Given the description of an element on the screen output the (x, y) to click on. 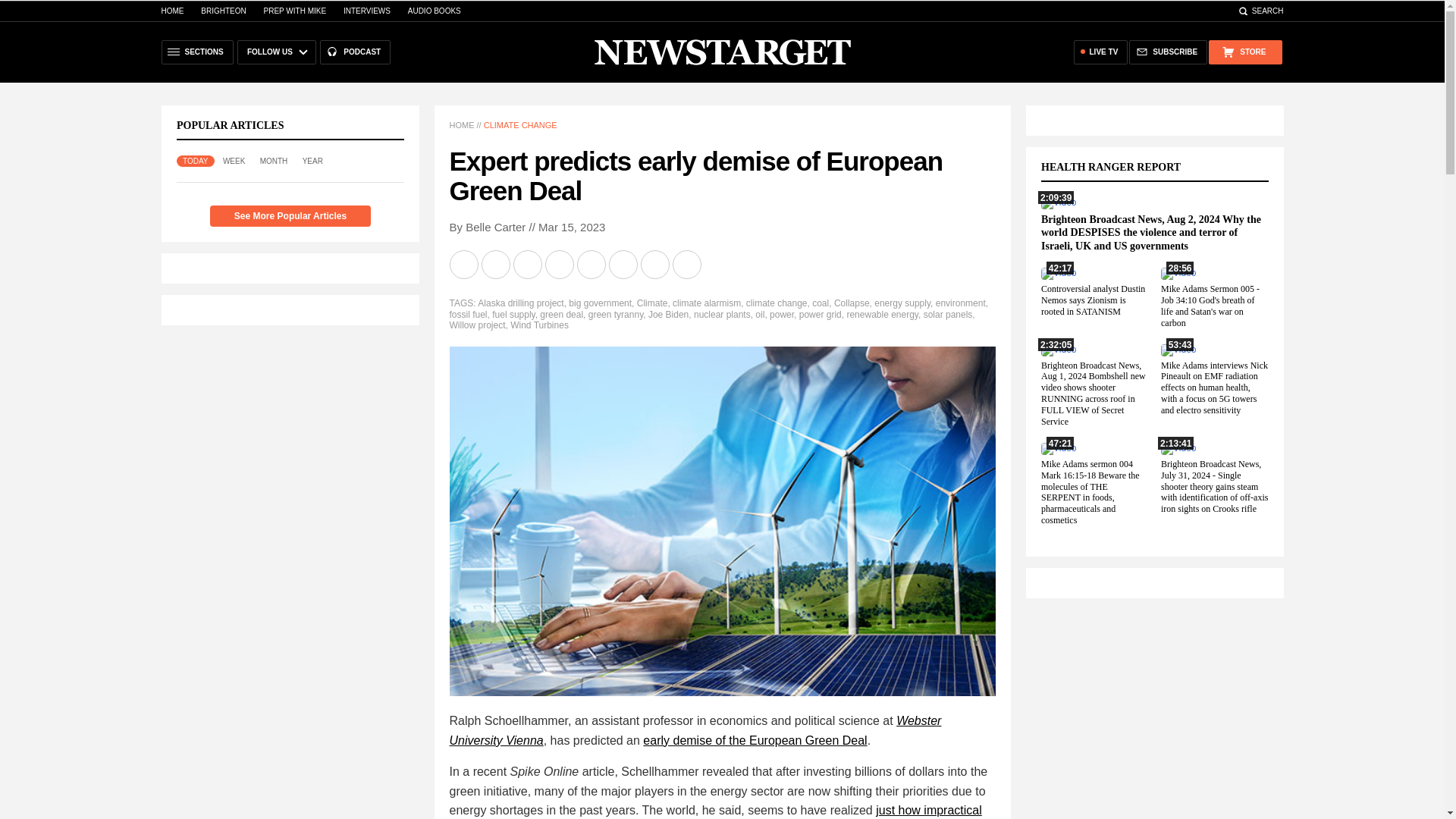
HOME (461, 124)
Share on Facebook (496, 264)
Alaska drilling project (520, 303)
By Belle Carter (486, 226)
53:43 (1177, 348)
47:21 (1058, 448)
BRIGHTEON (223, 10)
HEALTH RANGER REPORT (1119, 166)
SEARCH (1260, 10)
2:13:41 (1177, 448)
See More Popular Articles (289, 215)
Share on Gettr (655, 264)
